Given the description of an element on the screen output the (x, y) to click on. 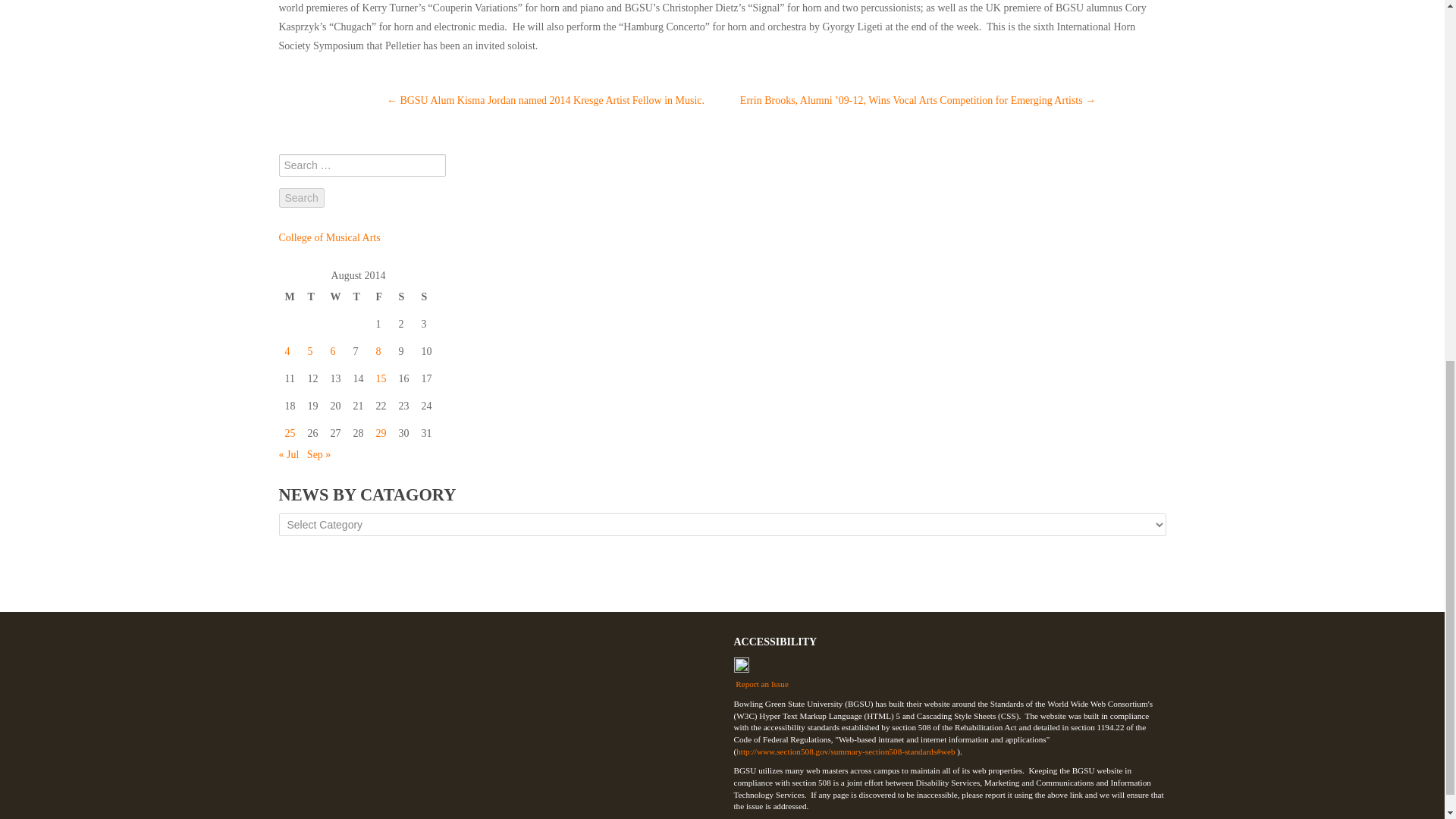
29 (381, 432)
College of Musical Arts (329, 237)
Search (301, 198)
 Report an Issue (949, 672)
15 (381, 378)
25 (290, 432)
Search (301, 198)
Search (301, 198)
